Given the description of an element on the screen output the (x, y) to click on. 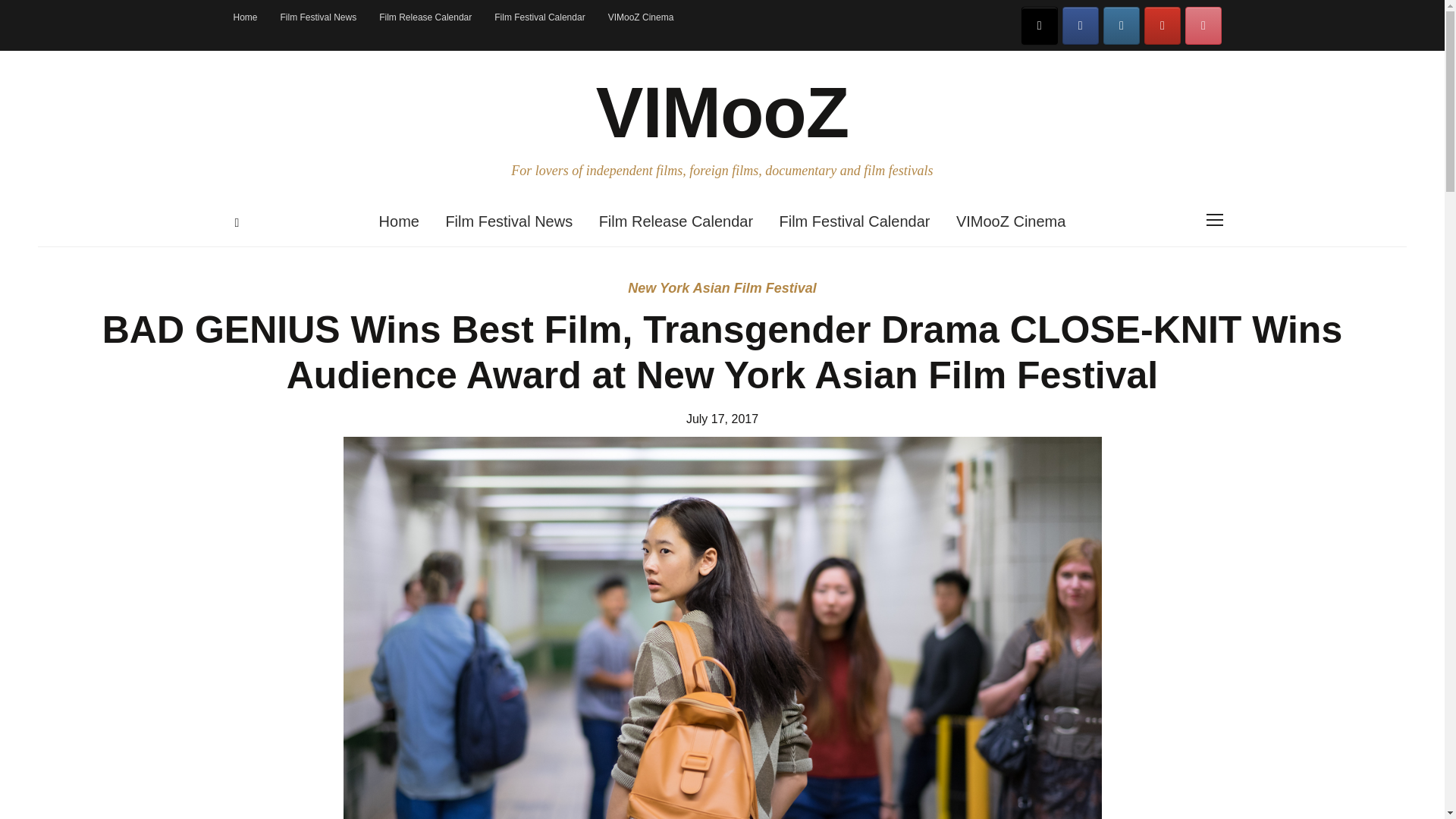
VIMooZ on Instagram (1121, 25)
VIMooZ on X Twitter (1040, 25)
VIMooZ on Pinterest (1203, 25)
VIMooZ on Facebook (1080, 25)
VIMooZ on Youtube (1162, 25)
